Given the description of an element on the screen output the (x, y) to click on. 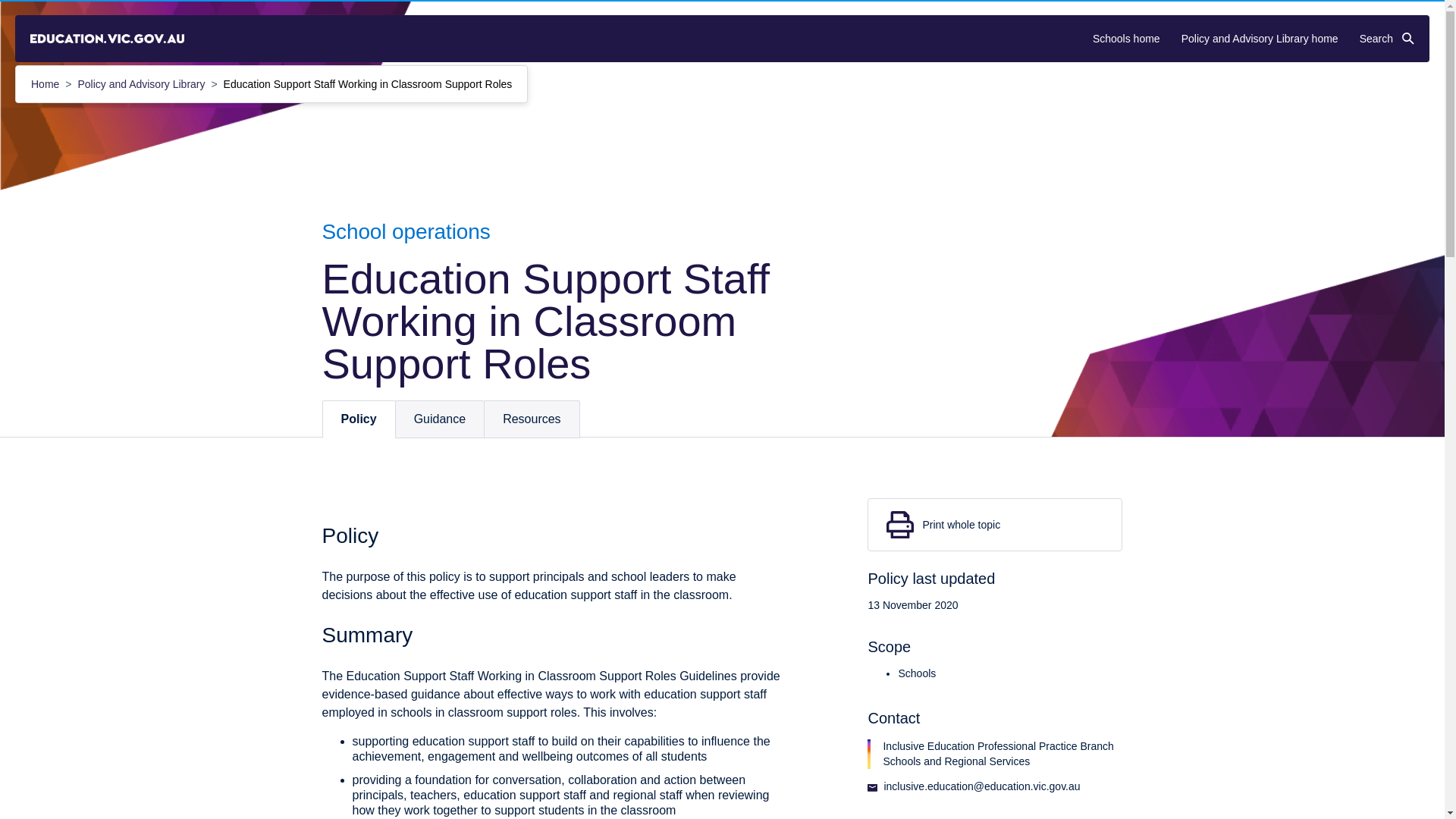
Policy and Advisory Library home (1259, 38)
Home (46, 83)
Schools home (1126, 38)
Guidance (440, 419)
Print whole topic (994, 524)
Search (1386, 38)
Resources (531, 419)
Policy and Advisory Library (142, 83)
Policy (358, 419)
